Given the description of an element on the screen output the (x, y) to click on. 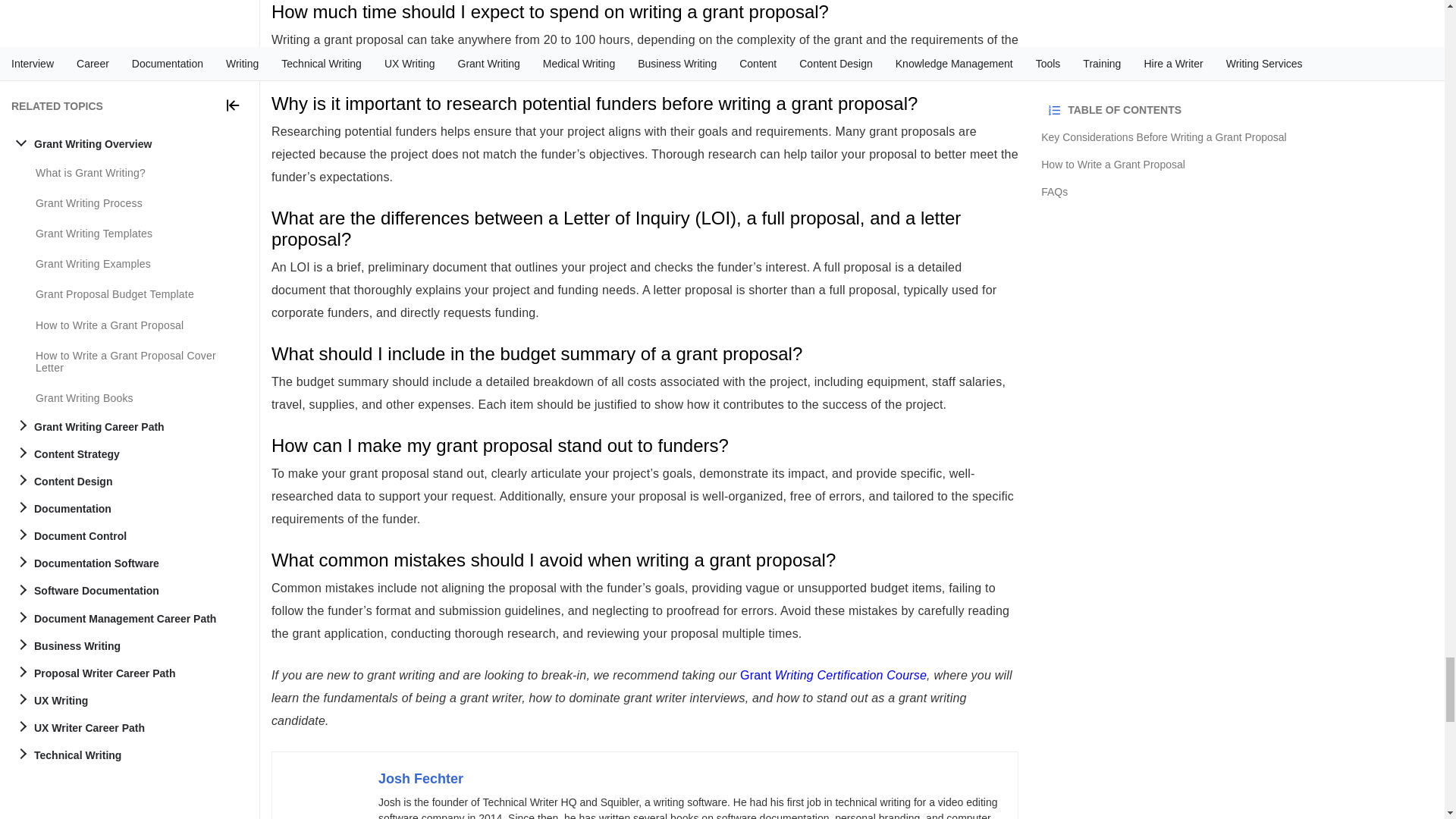
How can I make my grant proposal stand out to funders? (643, 445)
